Given the description of an element on the screen output the (x, y) to click on. 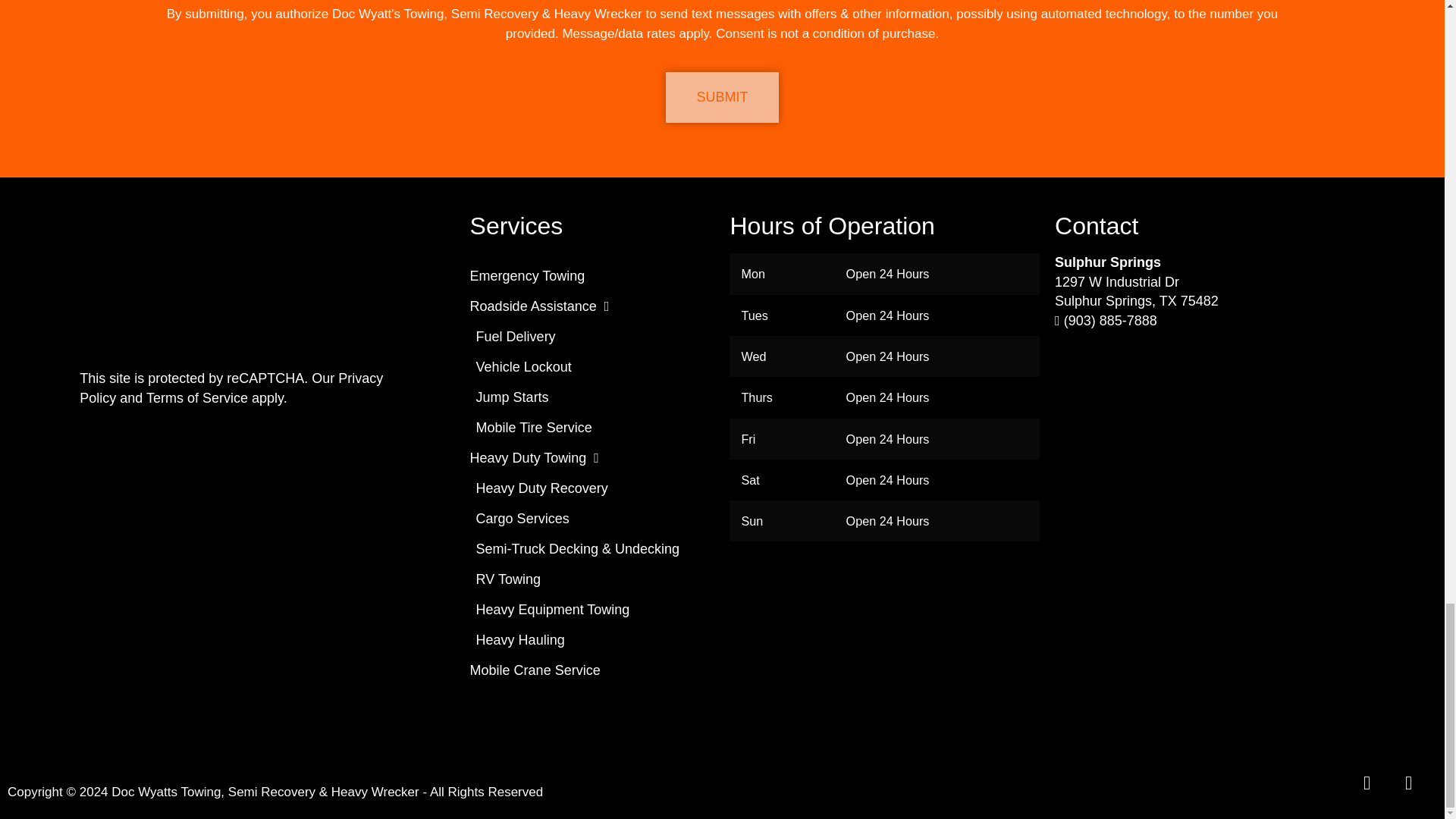
Submit (721, 97)
